Given the description of an element on the screen output the (x, y) to click on. 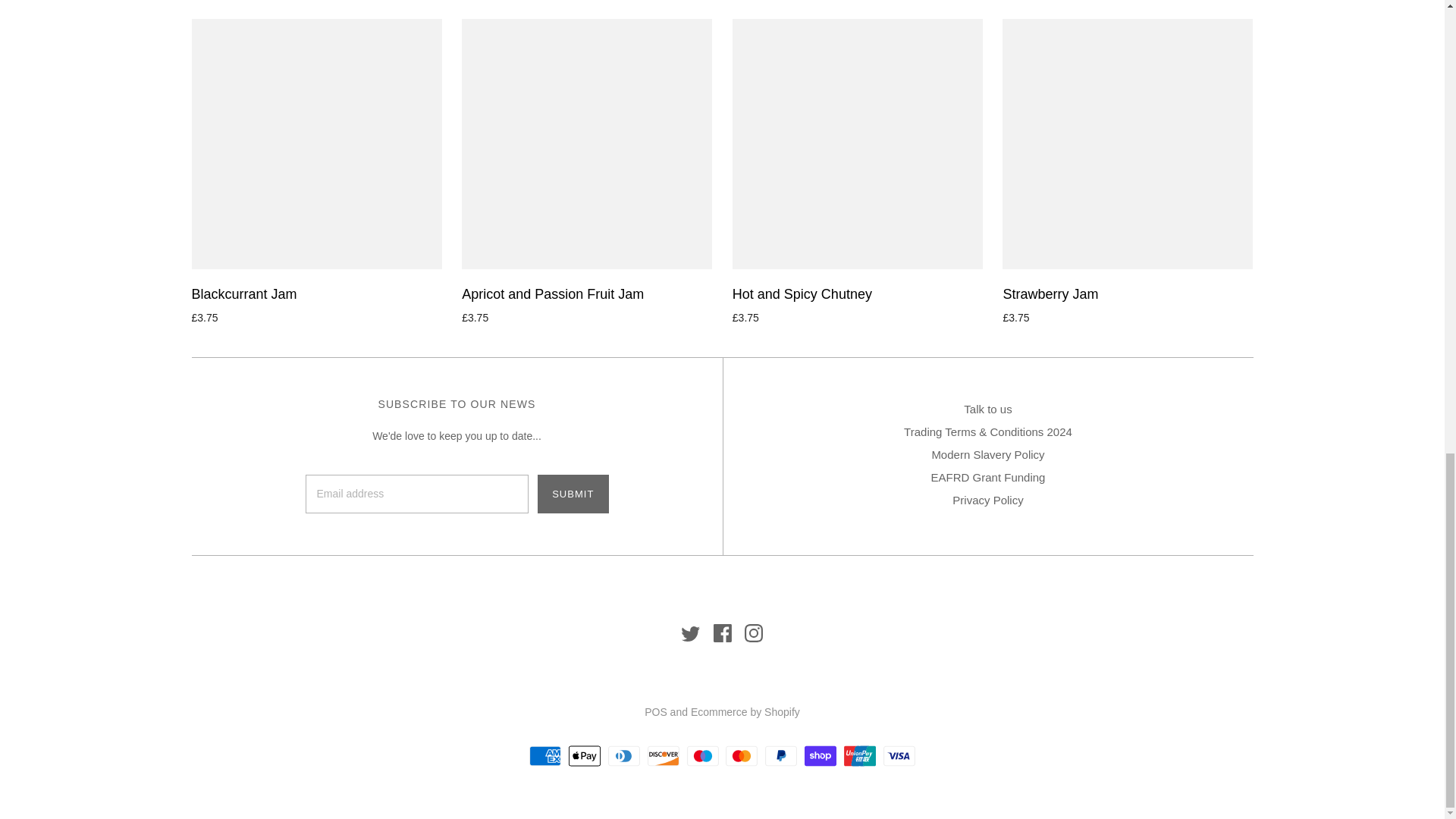
Twitter Icon (690, 633)
PayPal (780, 755)
Instagram Icon (753, 633)
Shop Pay (820, 755)
American Express (544, 755)
Mastercard (741, 755)
Submit (572, 494)
Maestro (703, 755)
Facebook Icon (721, 633)
Diners Club (624, 755)
